Given the description of an element on the screen output the (x, y) to click on. 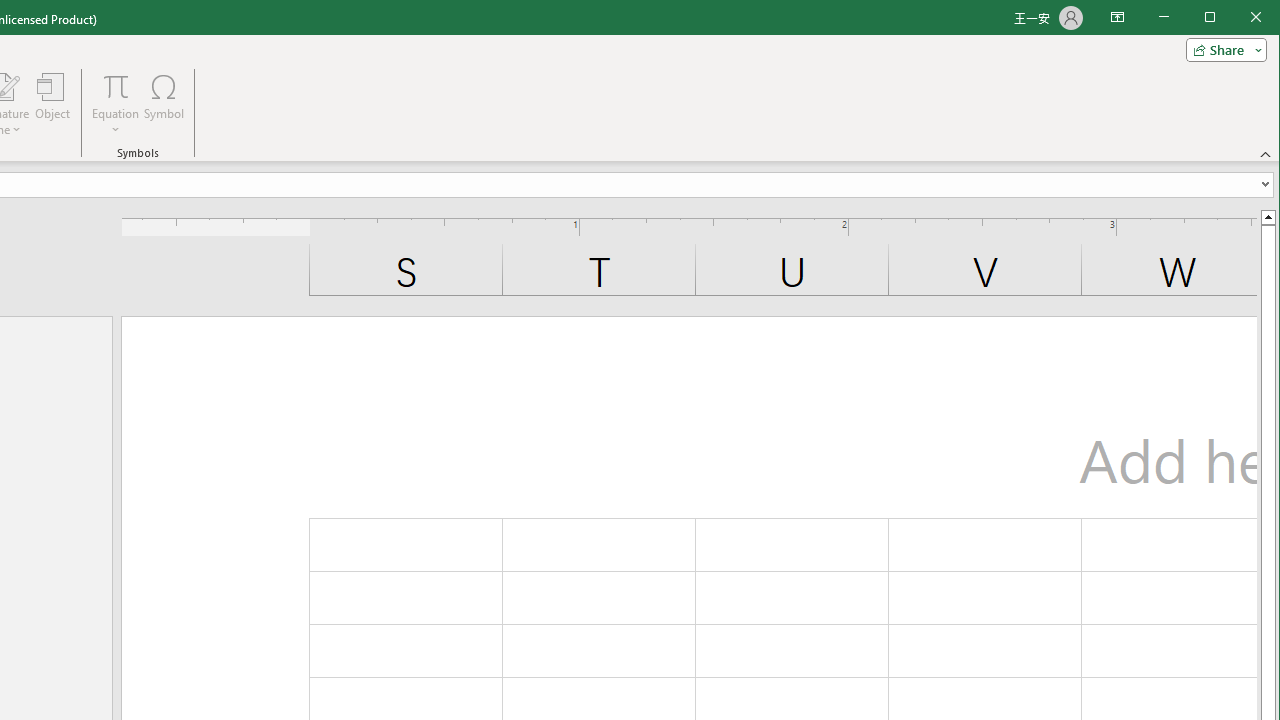
Equation (115, 104)
Equation (115, 86)
Symbol... (164, 104)
Maximize (1238, 18)
Object... (53, 104)
